Given the description of an element on the screen output the (x, y) to click on. 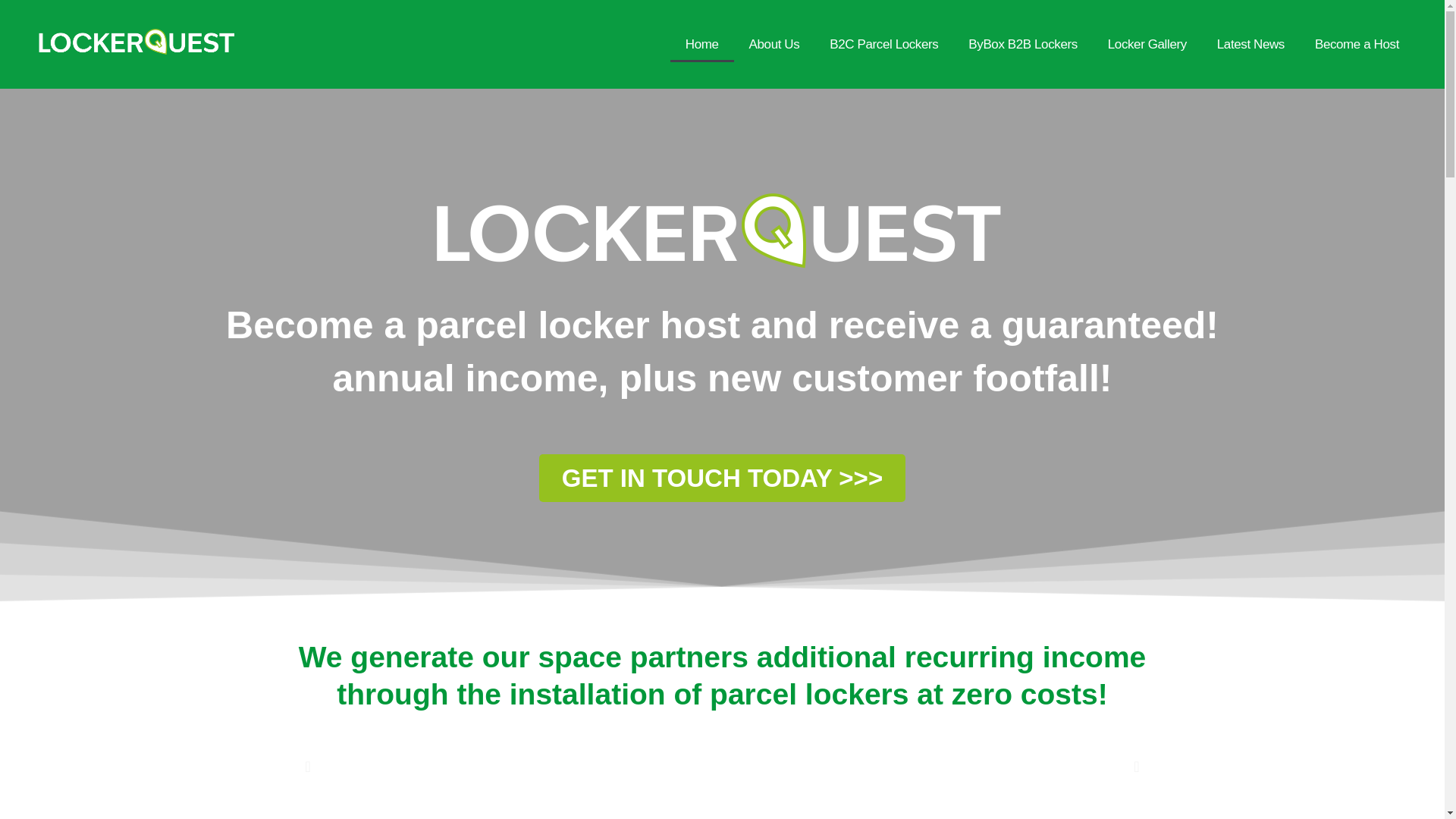
ByBox B2B Lockers (1022, 44)
B2C Parcel Lockers (883, 44)
Home (701, 44)
Latest News (1251, 44)
Locker Gallery (1147, 44)
Become a Host (1356, 44)
About Us (774, 44)
